Given the description of an element on the screen output the (x, y) to click on. 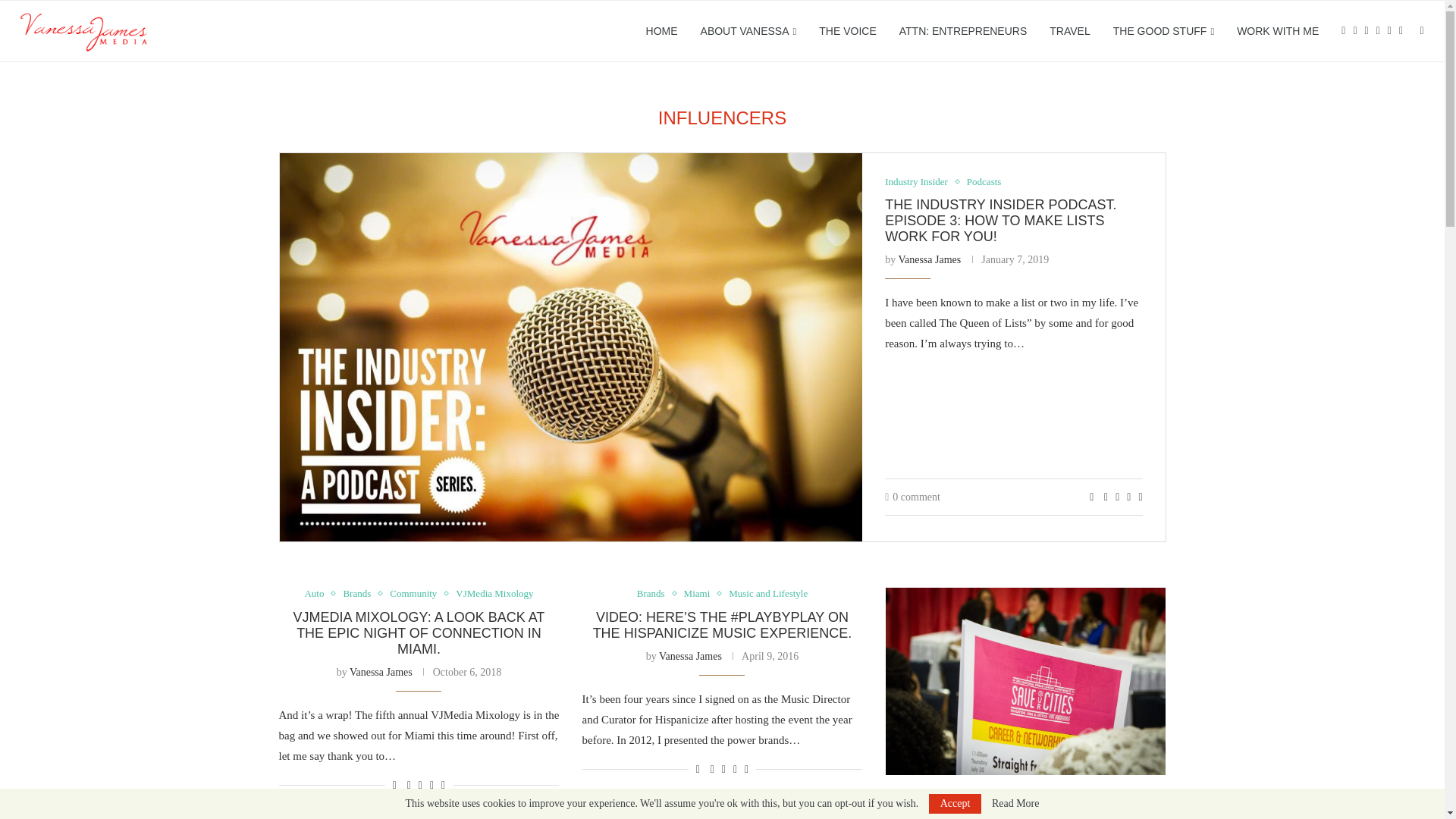
TRAVEL (1069, 30)
0 comment (912, 496)
THE GOOD STUFF (1163, 31)
Podcasts (983, 182)
THE VOICE (847, 30)
ABOUT VANESSA (748, 31)
WORK WITH ME (1277, 30)
Industry Insider (920, 182)
ATTN: ENTREPRENEURS (963, 30)
Like (394, 785)
Like (1091, 497)
HOME (662, 30)
Vanessa James (929, 259)
Like (697, 769)
